Given the description of an element on the screen output the (x, y) to click on. 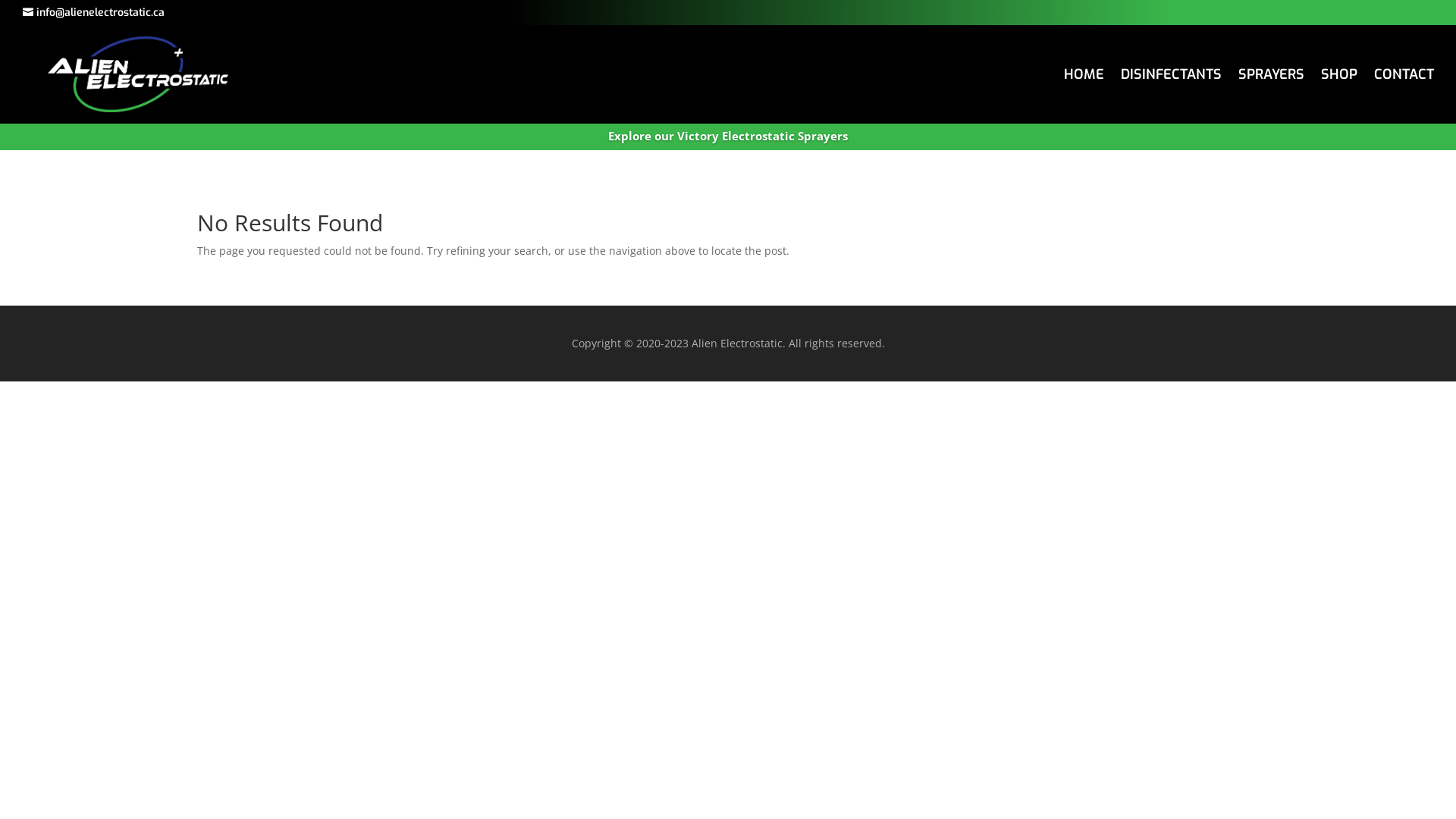
info@alienelectrostatic.ca Element type: text (93, 12)
HOME Element type: text (1083, 77)
SHOP Element type: text (1339, 77)
SPRAYERS Element type: text (1271, 77)
AE Logo v3.4 Element type: hover (137, 74)
DISINFECTANTS Element type: text (1170, 77)
CONTACT Element type: text (1404, 77)
